Given the description of an element on the screen output the (x, y) to click on. 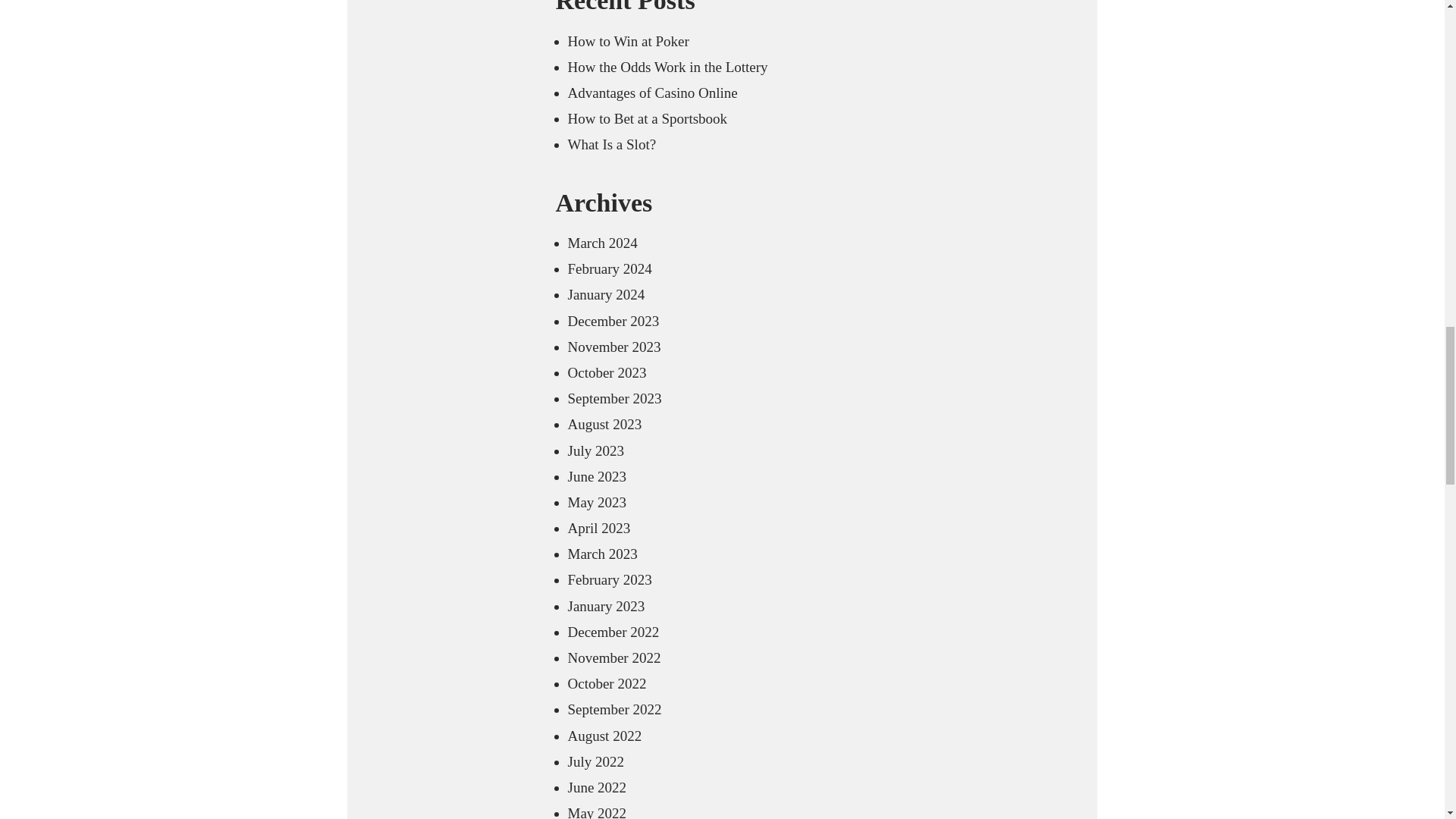
March 2024 (602, 242)
December 2023 (613, 320)
October 2022 (606, 683)
January 2024 (606, 294)
November 2023 (614, 346)
October 2023 (606, 372)
September 2022 (614, 709)
April 2023 (598, 528)
August 2023 (604, 424)
July 2023 (595, 450)
September 2023 (614, 398)
November 2022 (614, 657)
March 2023 (602, 553)
What Is a Slot? (611, 144)
February 2023 (608, 579)
